Given the description of an element on the screen output the (x, y) to click on. 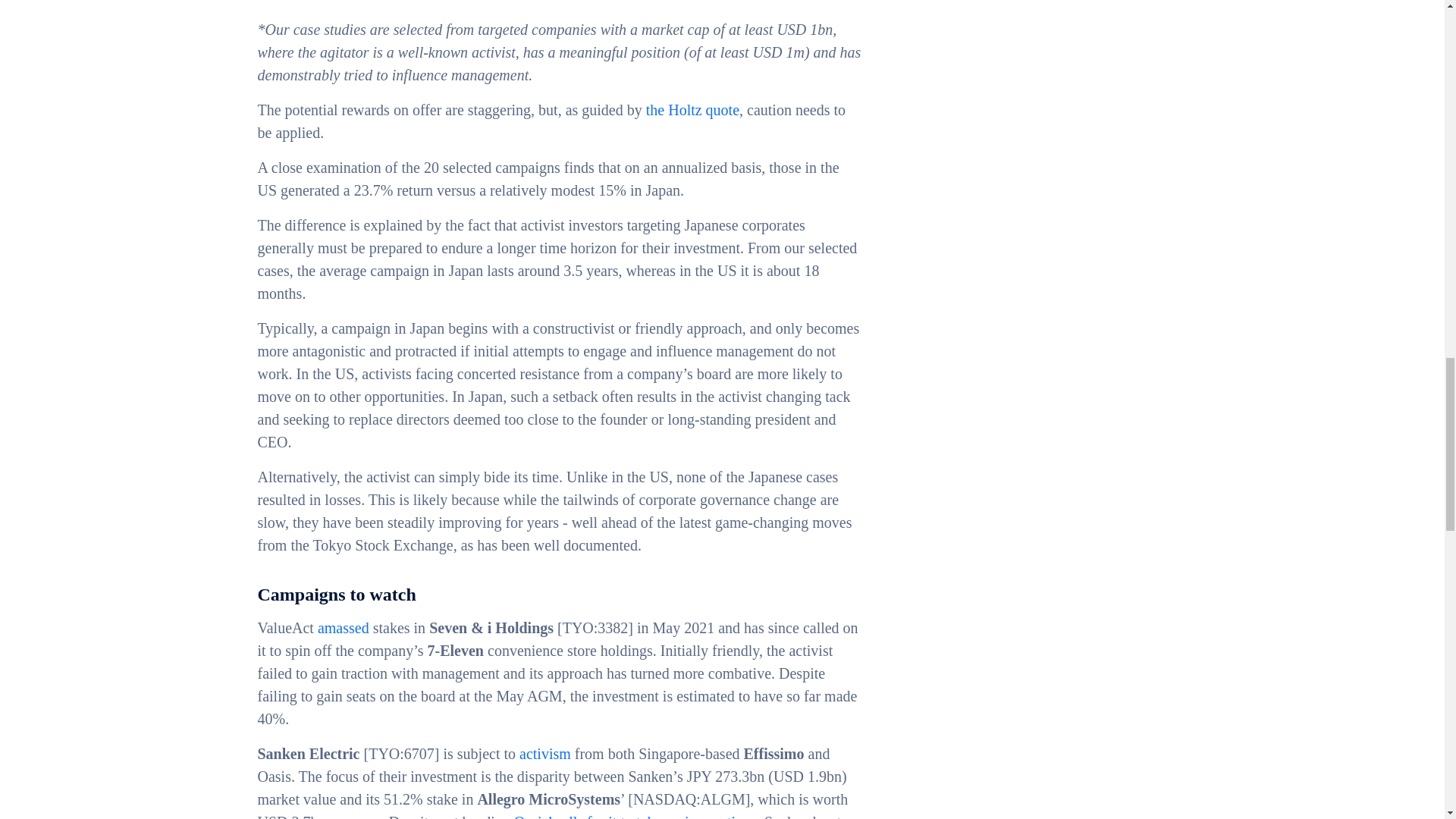
amassed (343, 627)
activism (544, 753)
the Holtz quote (692, 109)
